Given the description of an element on the screen output the (x, y) to click on. 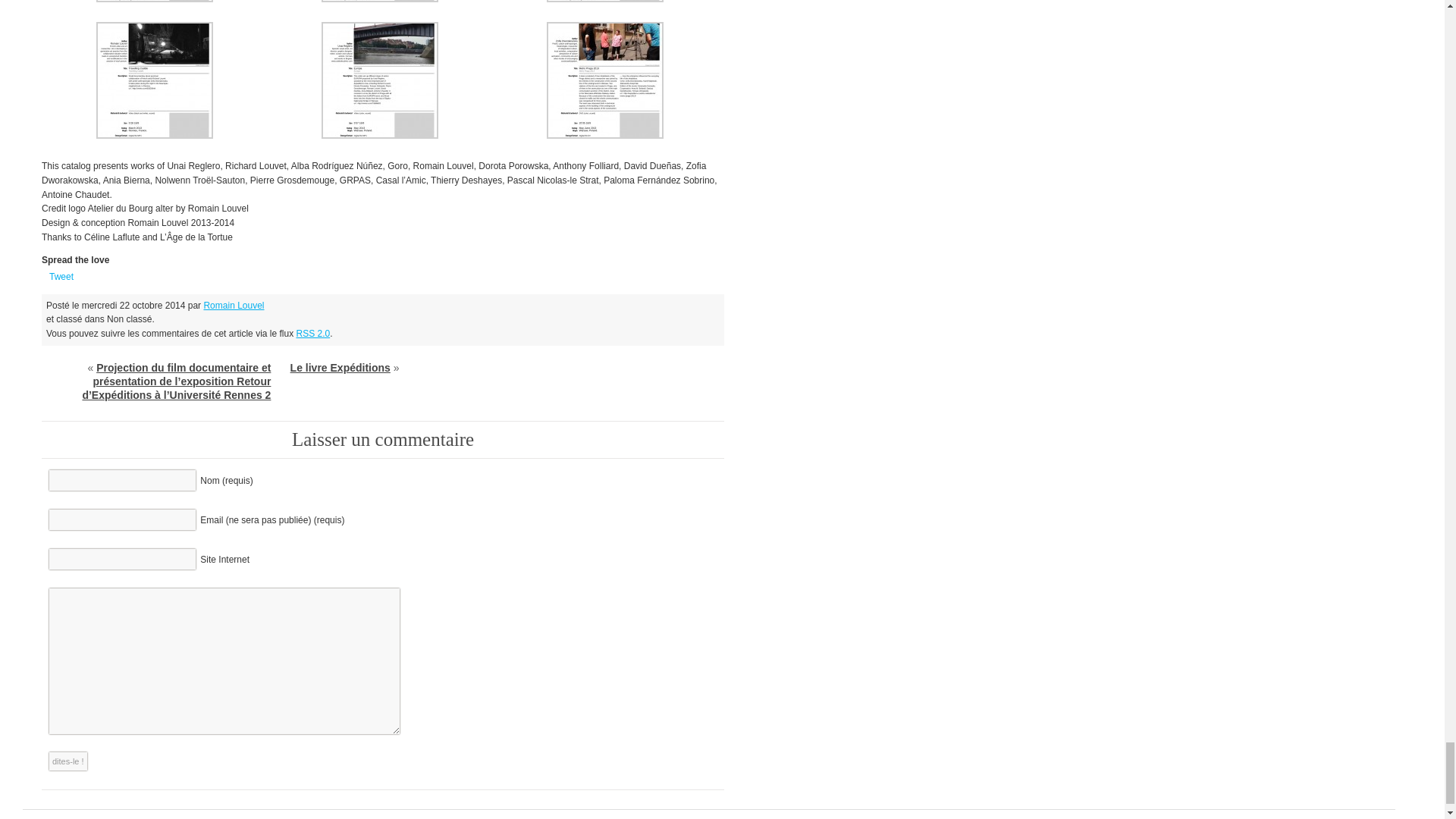
Articles par Romain Louvel (233, 305)
dites-le ! (68, 761)
